Given the description of an element on the screen output the (x, y) to click on. 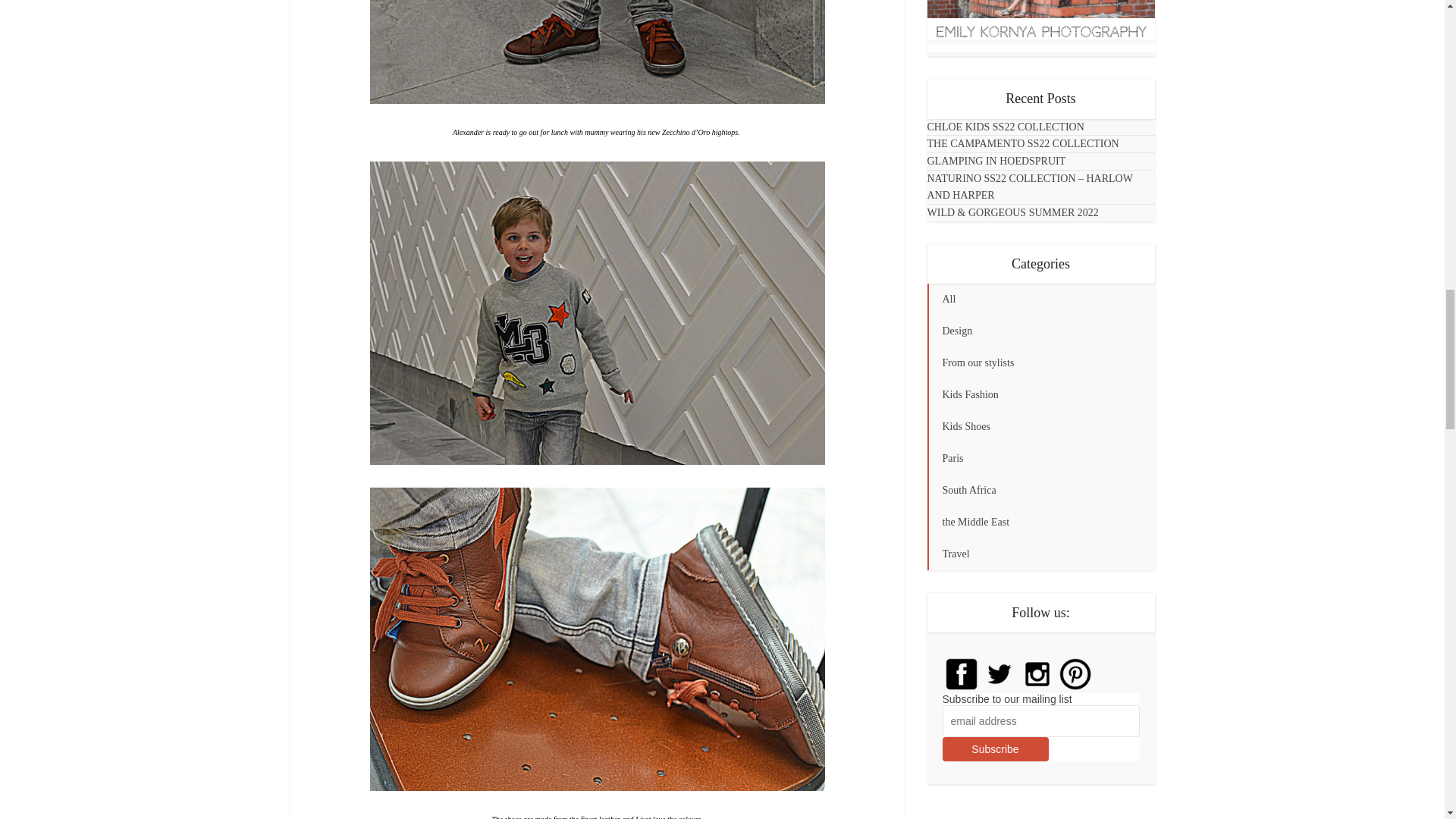
Subscribe (995, 749)
